Given the description of an element on the screen output the (x, y) to click on. 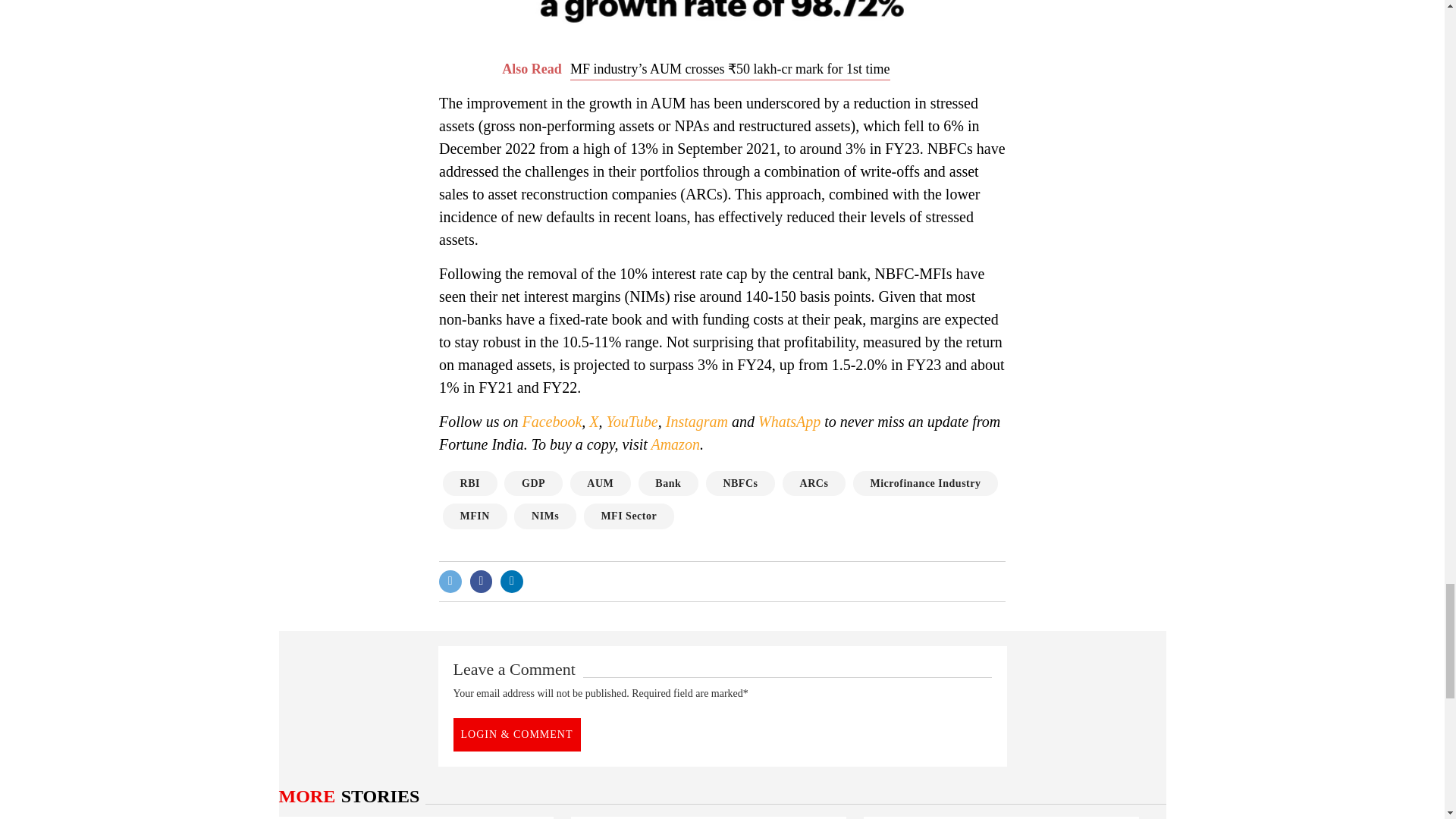
Linkedin (511, 581)
Twitter (450, 581)
Facebook (481, 581)
